Given the description of an element on the screen output the (x, y) to click on. 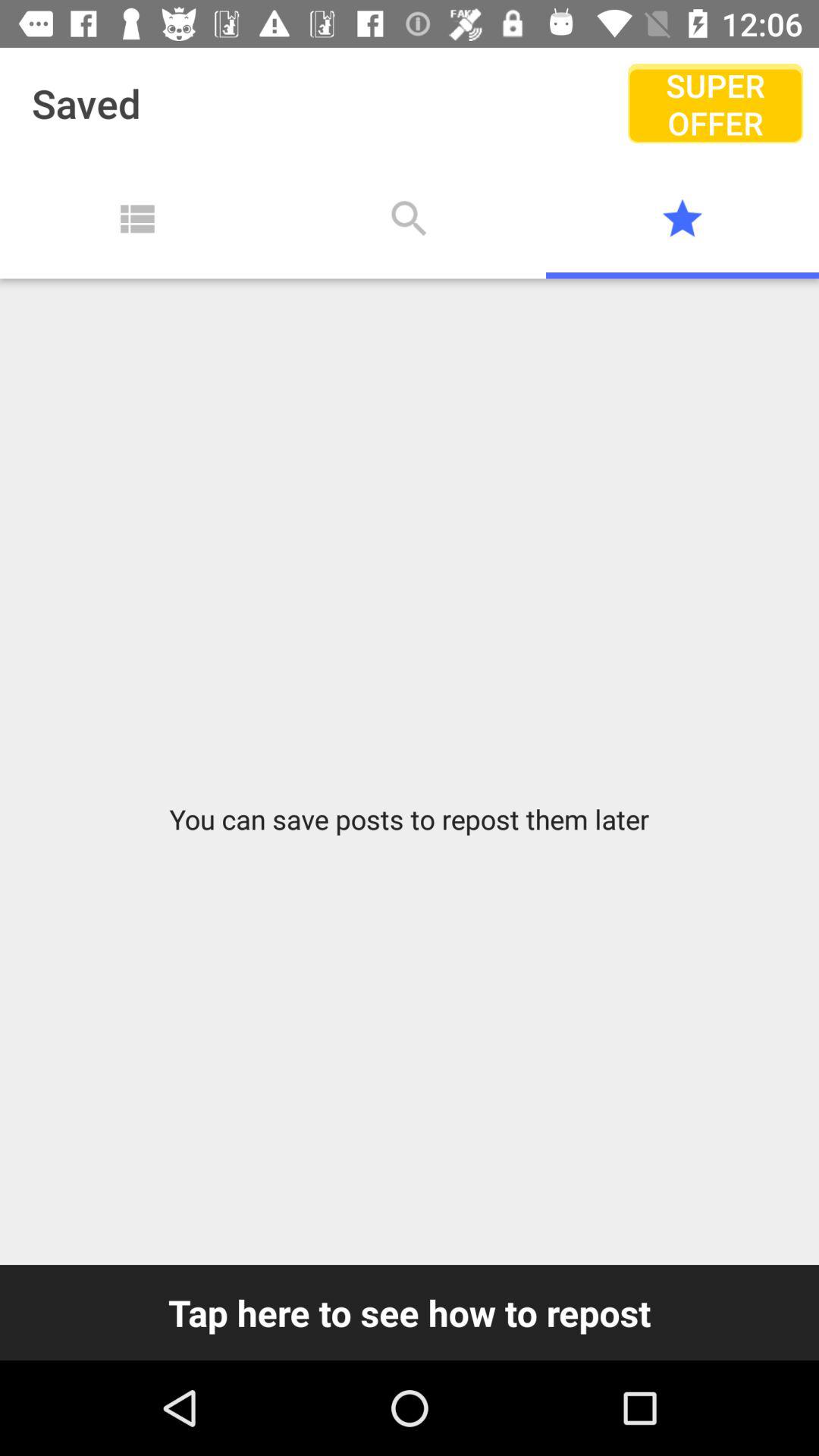
tap icon next to saved (715, 103)
